Given the description of an element on the screen output the (x, y) to click on. 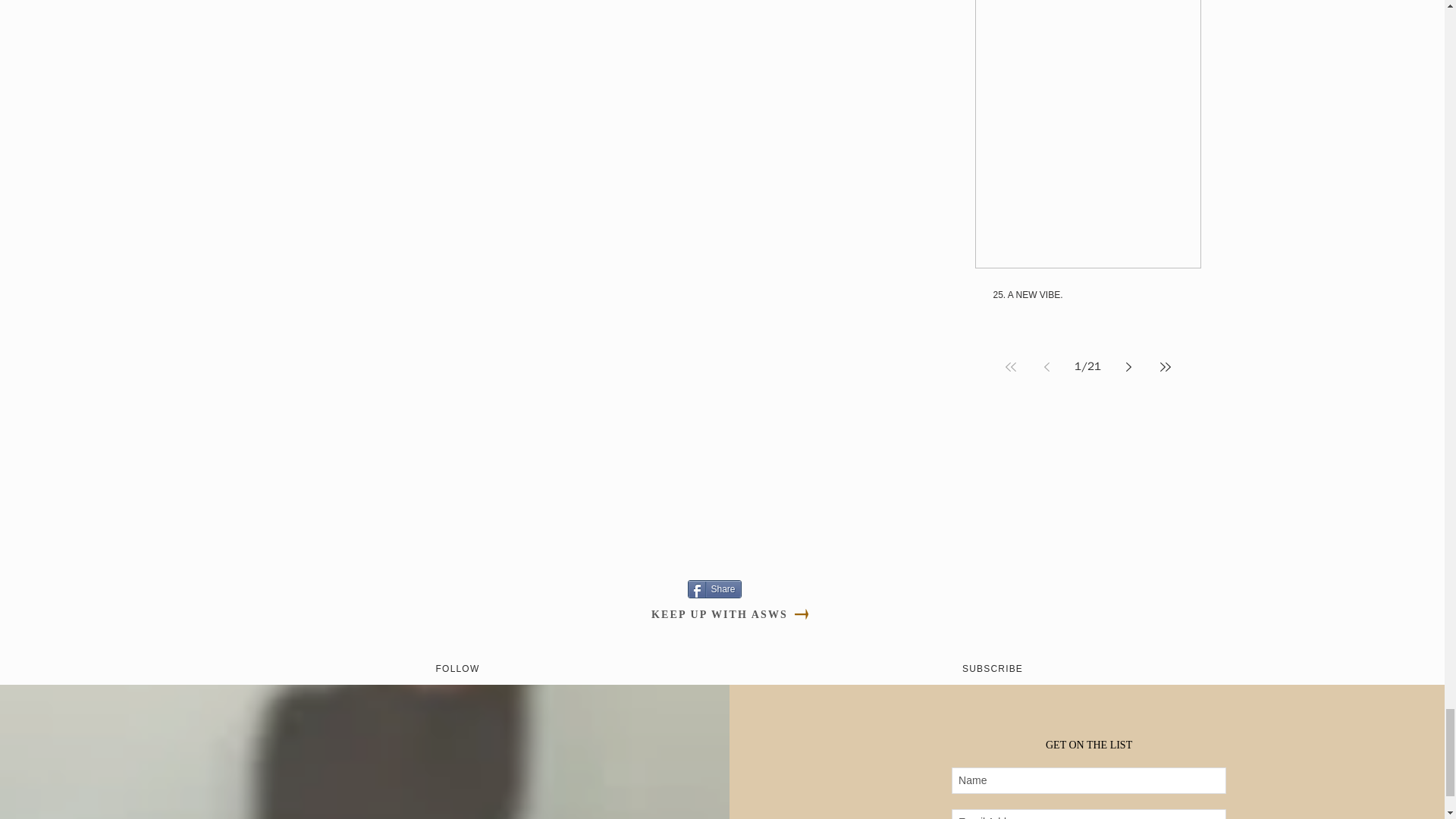
Twitter Tweet (587, 588)
Share (714, 588)
Share (714, 588)
25. A NEW VIBE. (1087, 294)
Facebook Like (646, 588)
Pin to Pinterest (528, 588)
